Given the description of an element on the screen output the (x, y) to click on. 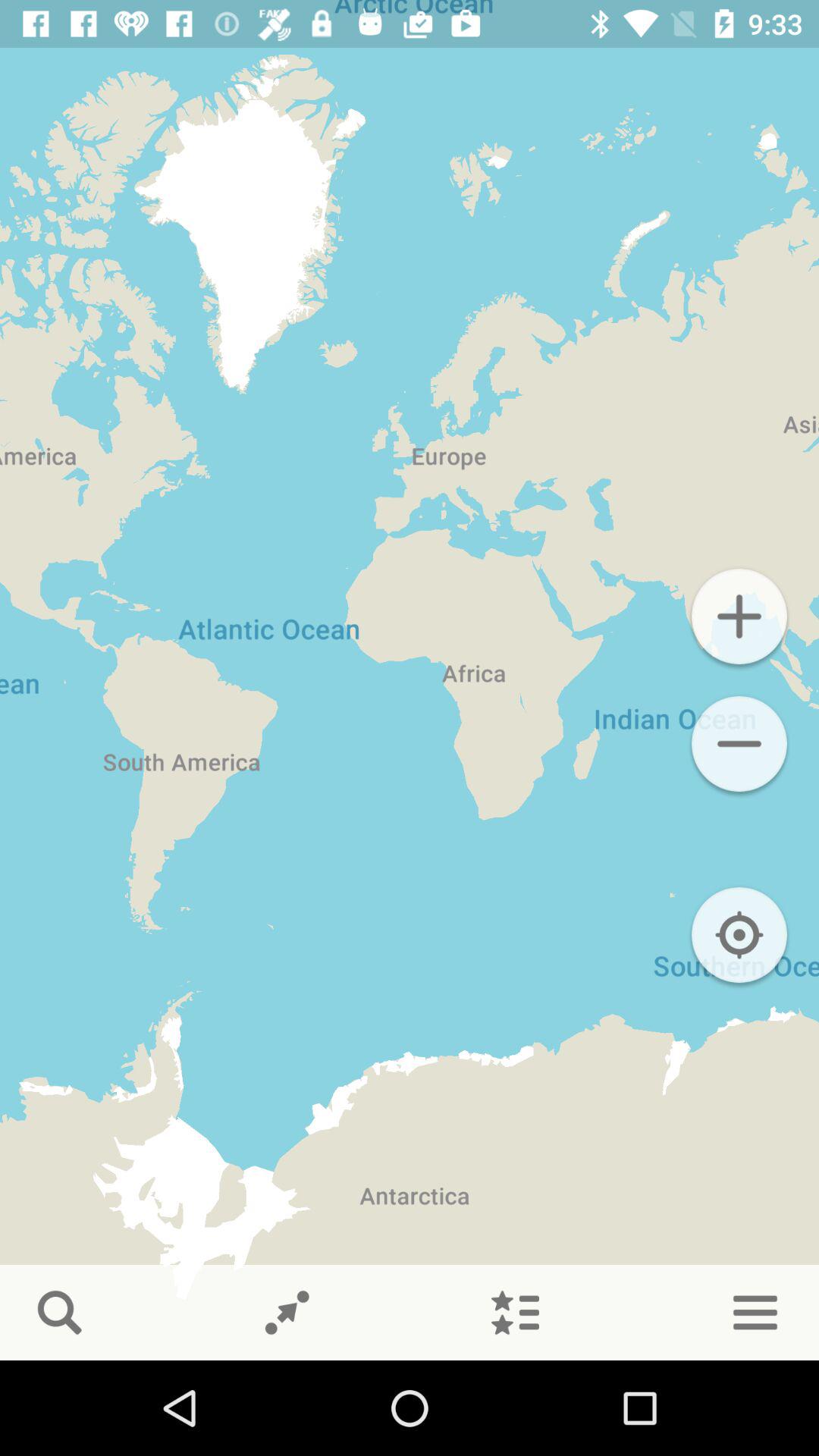
scroll next country (286, 1312)
